Given the description of an element on the screen output the (x, y) to click on. 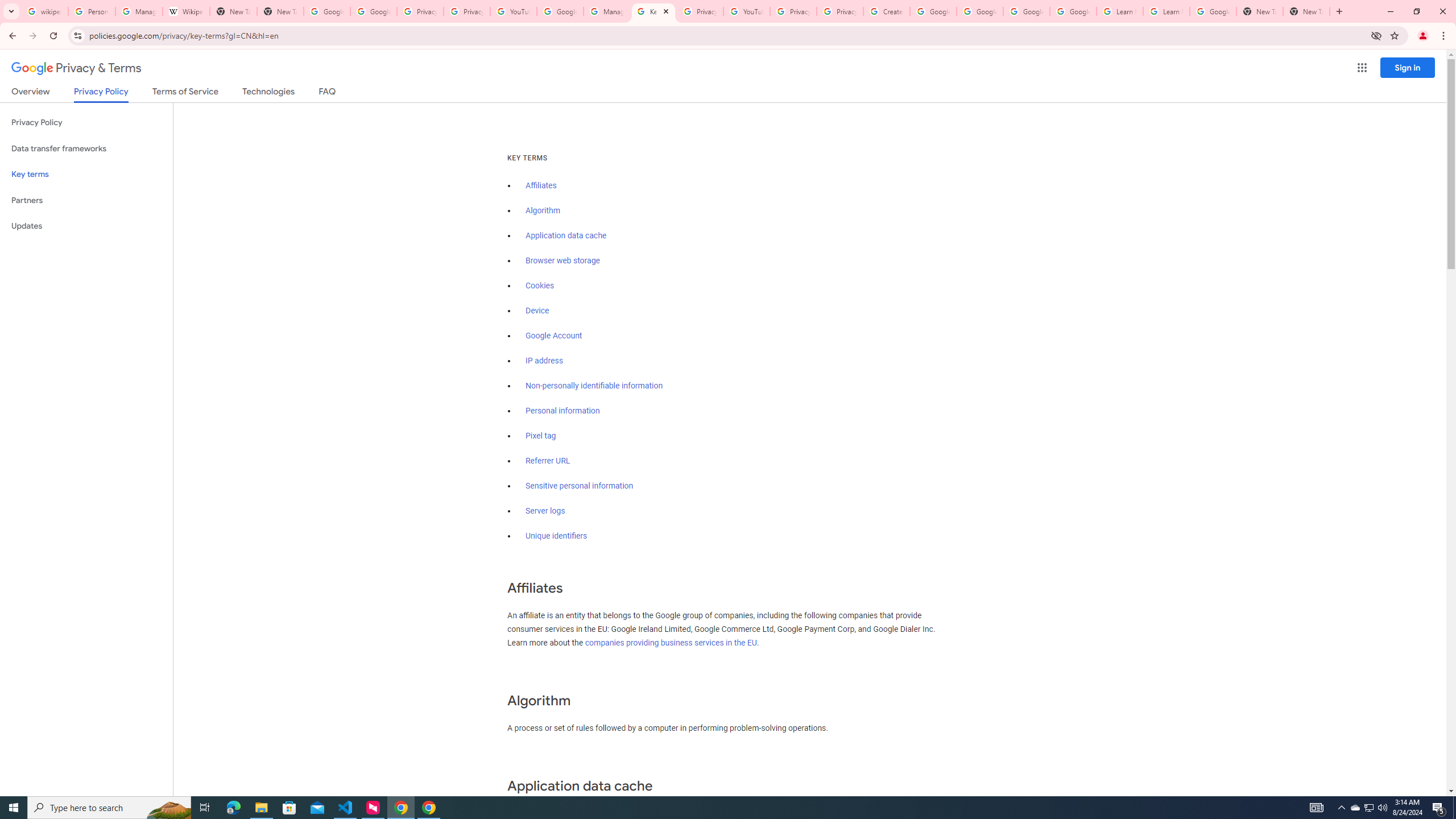
IP address (544, 361)
Pixel tag (540, 435)
Referrer URL (547, 461)
Unique identifiers (556, 536)
